Given the description of an element on the screen output the (x, y) to click on. 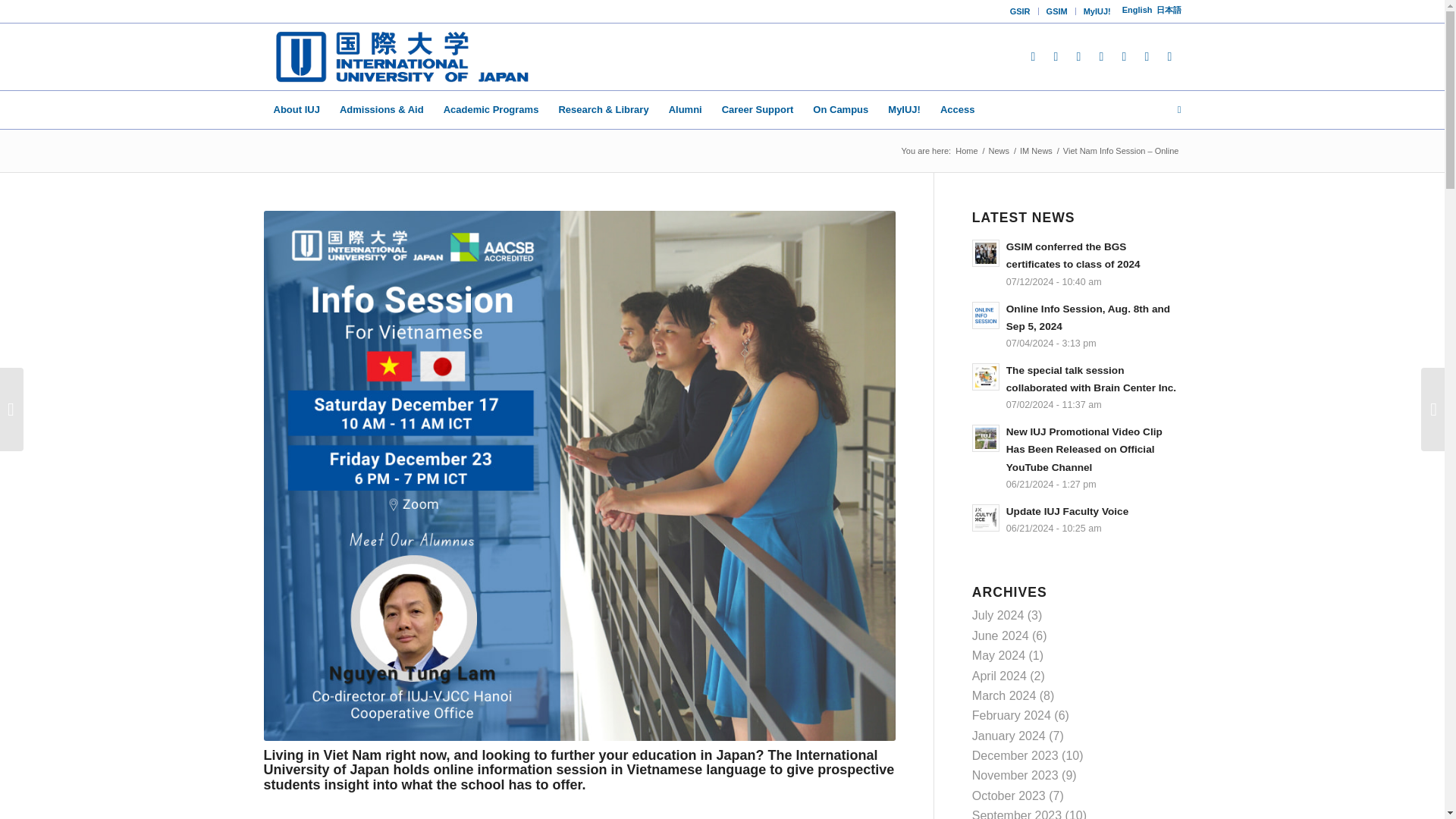
International University of Japan (397, 56)
GSIM (1056, 11)
Facebook (1033, 56)
Instagram (1056, 56)
About IUJ (296, 109)
MyIUJ! (1096, 11)
GSIR (1020, 11)
Twitter (1078, 56)
English (1137, 9)
